Given the description of an element on the screen output the (x, y) to click on. 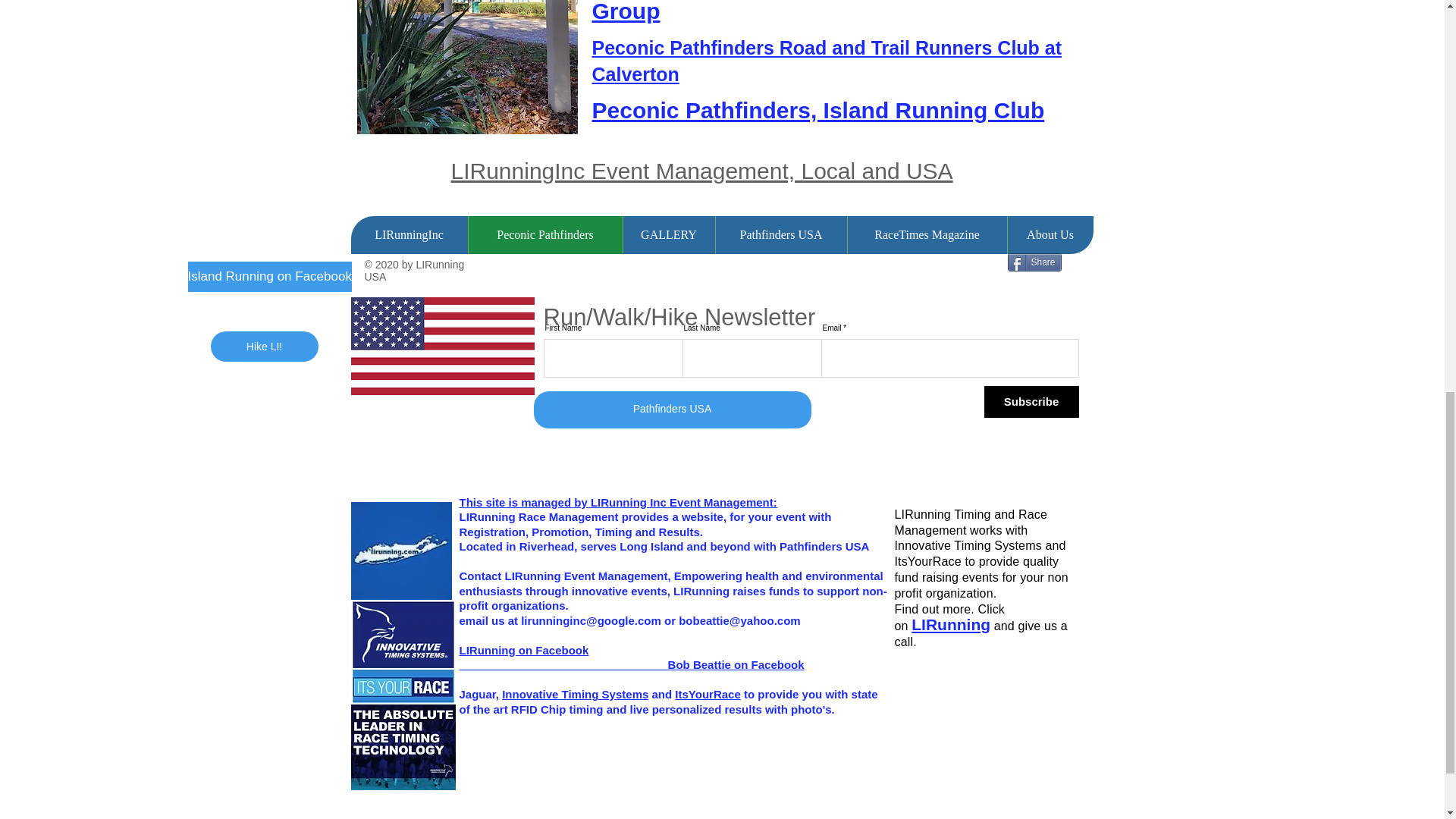
Peconic Pathfinders Project Earth Facebook Group (830, 11)
Peconic Pathfinders, Island Running Club (817, 109)
Share (1034, 262)
LIRunningInc Event Management, Local and USA (700, 170)
LIRunningInc (408, 234)
Peconic Pathfinders Road and Trail Runners Club at Calverton (826, 60)
